Given the description of an element on the screen output the (x, y) to click on. 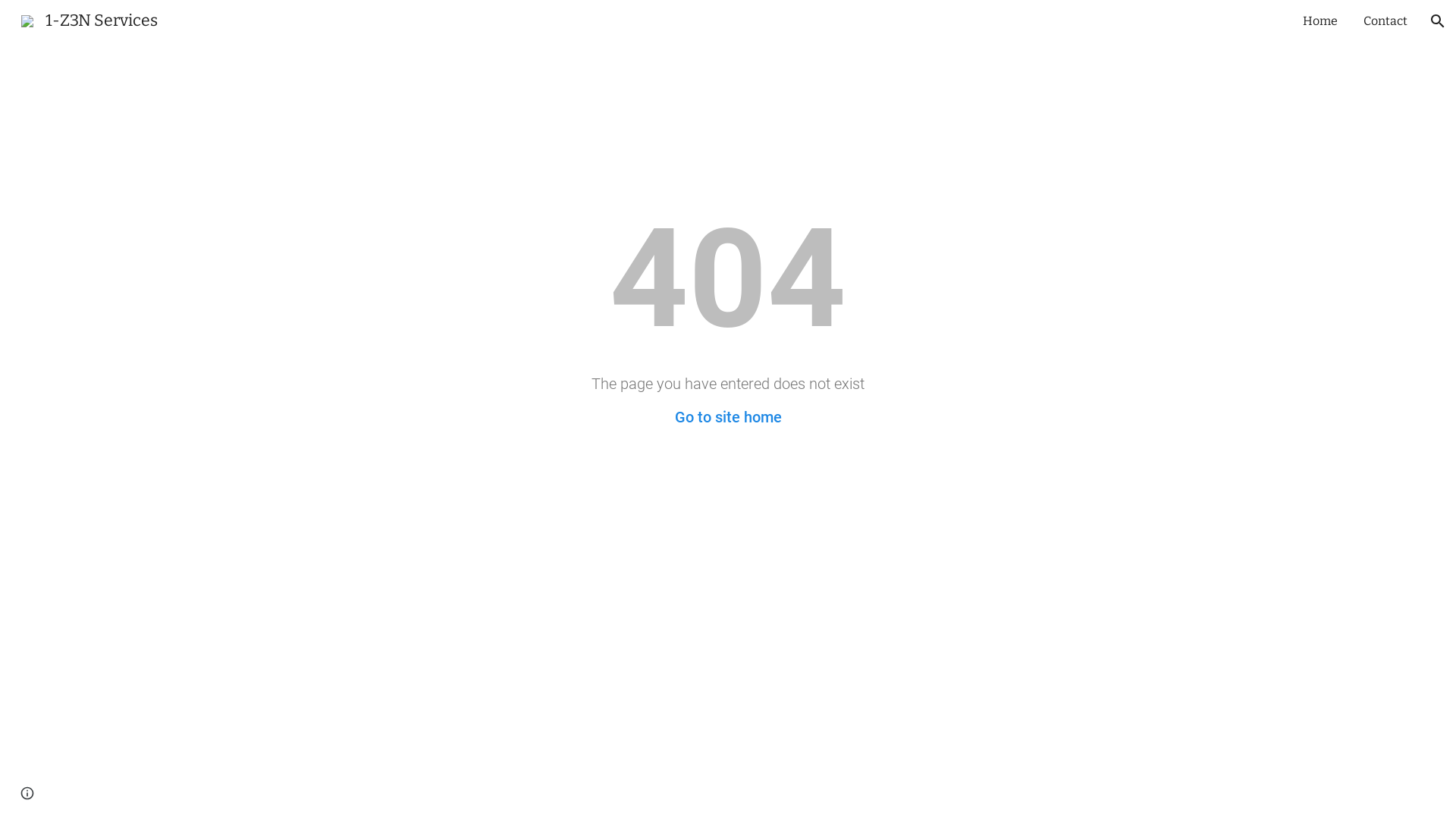
Go to site home Element type: text (727, 416)
Contact Element type: text (1385, 20)
1-Z3N Services Element type: text (89, 20)
Home Element type: text (1320, 20)
